Given the description of an element on the screen output the (x, y) to click on. 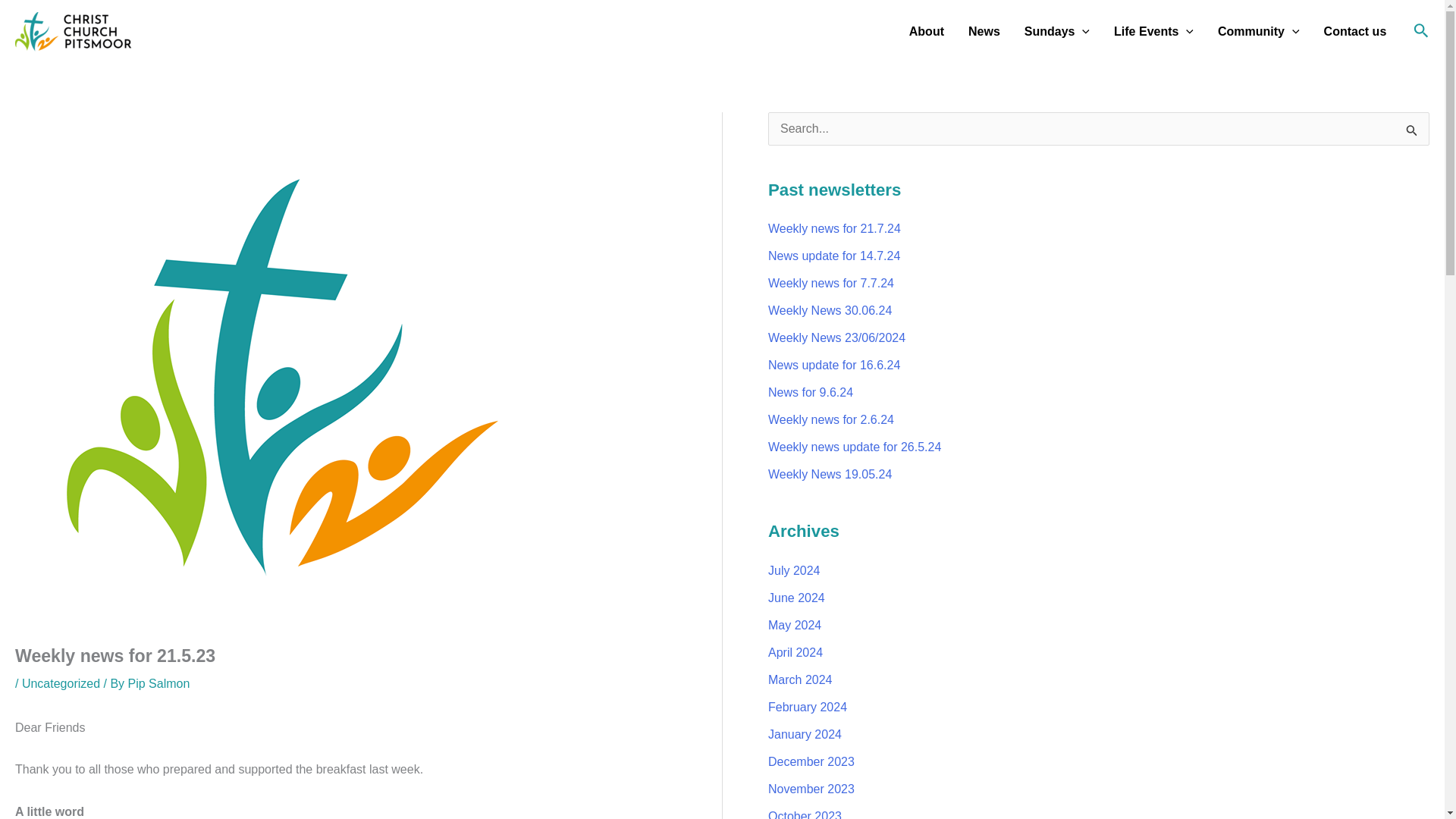
Sundays (1056, 31)
Life Events (1153, 31)
Contact us (1355, 31)
News (983, 31)
View all posts by Pip Salmon (159, 683)
Community (1258, 31)
About (926, 31)
